Given the description of an element on the screen output the (x, y) to click on. 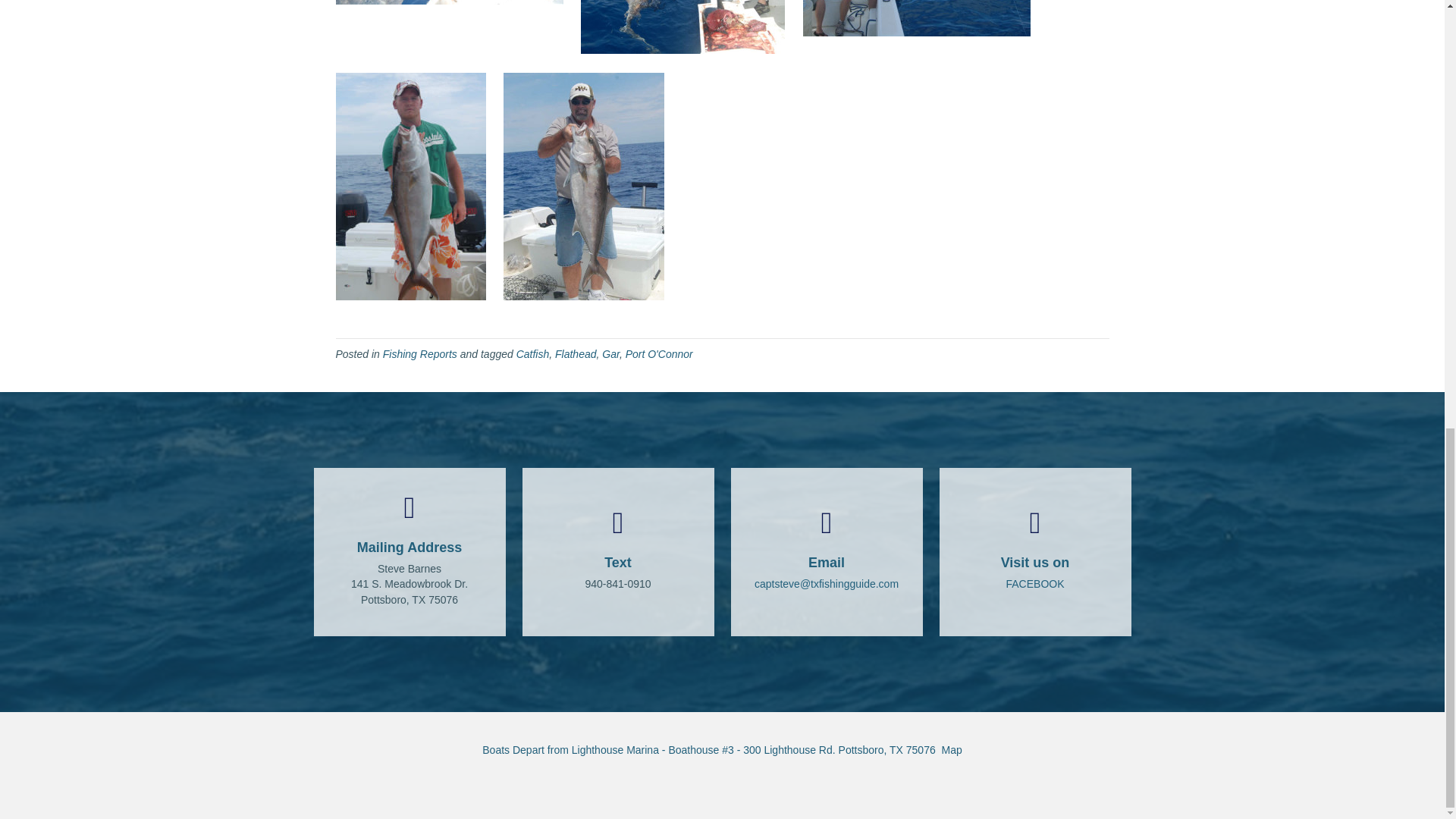
Flathead (574, 354)
FACEBOOK (1035, 583)
Catfish (533, 354)
Port O'Connor (659, 354)
Map (952, 749)
Fishing Reports (419, 354)
Gar (611, 354)
